Given the description of an element on the screen output the (x, y) to click on. 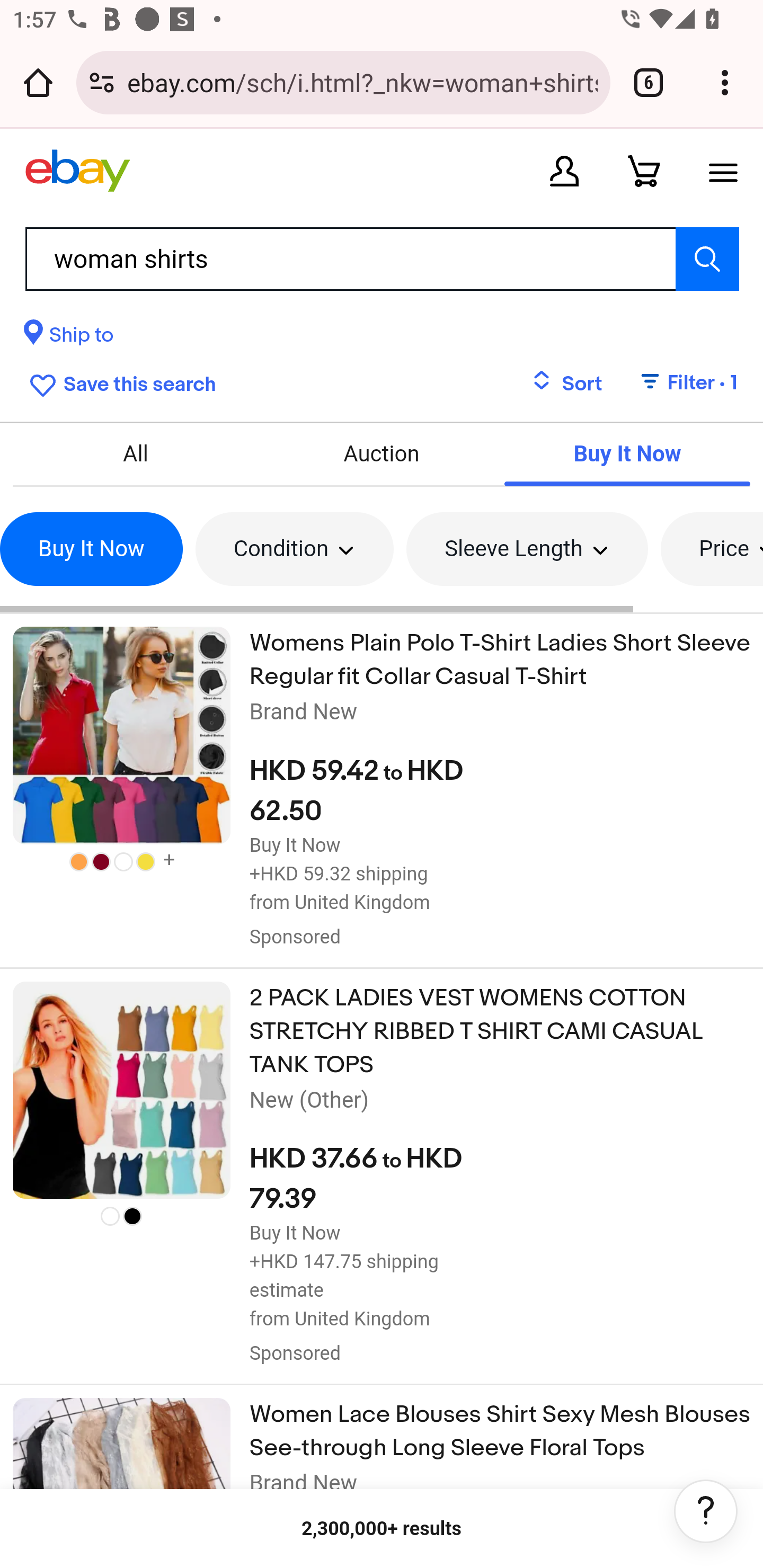
Open the home page (38, 82)
Connection is secure (101, 82)
Switch or close tabs (648, 82)
Customize and control Google Chrome (724, 82)
Open Menu (723, 170)
My eBay (564, 170)
Your shopping cart is empty (643, 170)
eBay Home (77, 170)
woman shirts (381, 258)
Search (707, 258)
Ship to  (68, 338)
Sort (566, 384)
Filter • 1 (678, 384)
Save this search woman shirts search (118, 382)
All (135, 453)
Auction (381, 453)
Buy It Now selected (626, 453)
Buy It Now Remove filter Buy It NowRemove filter (91, 548)
Condition (293, 548)
Sleeve Length (526, 548)
Help (705, 1511)
